Given the description of an element on the screen output the (x, y) to click on. 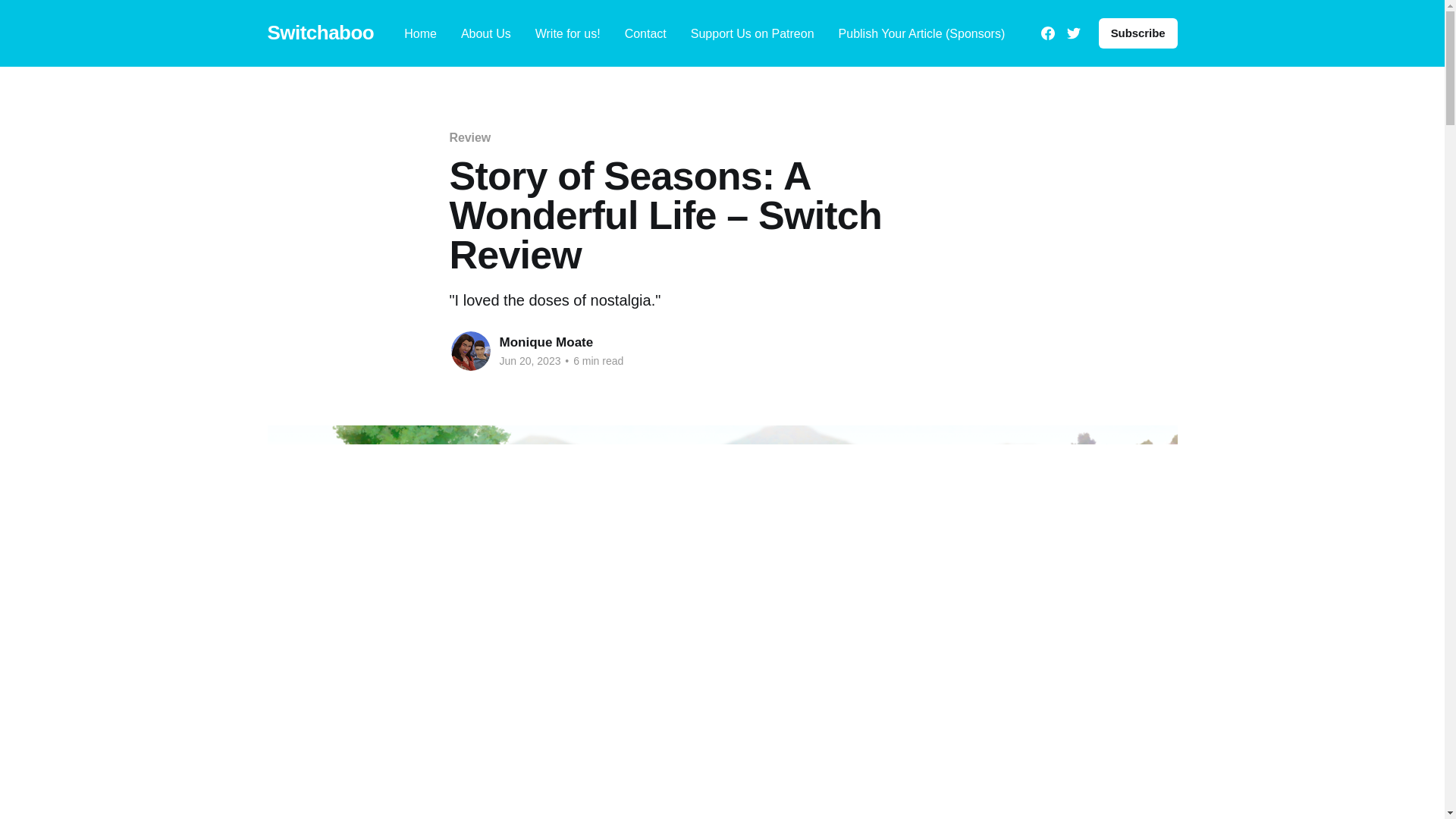
Write for us! (567, 33)
Monique Moate (545, 341)
Support Us on Patreon (751, 33)
Contact (645, 33)
About Us (486, 33)
Subscribe (1138, 33)
Home (420, 33)
Review (469, 137)
Facebook (1047, 33)
Switchaboo (320, 32)
